Given the description of an element on the screen output the (x, y) to click on. 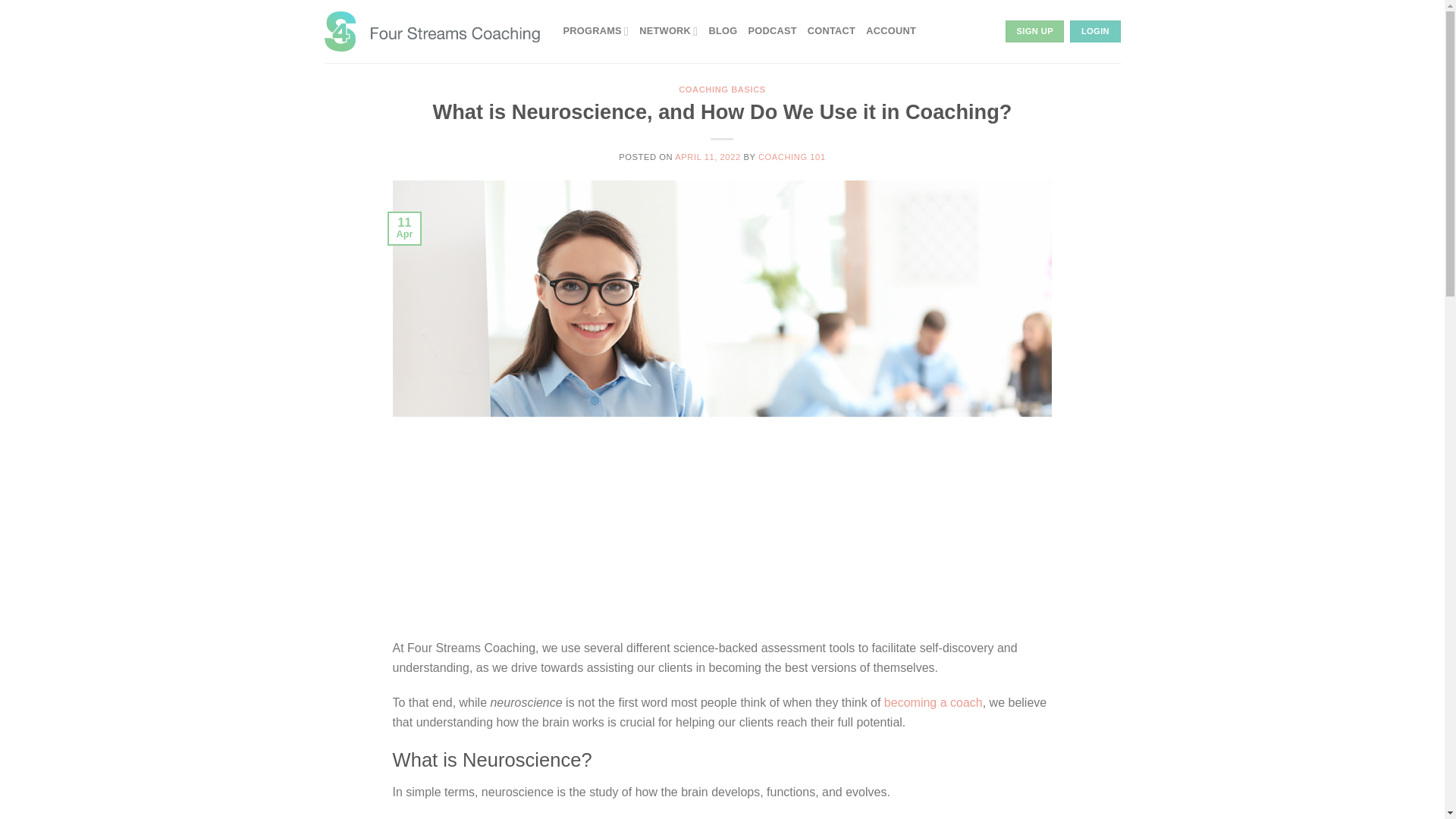
APRIL 11, 2022 (707, 156)
SIGN UP (1035, 31)
Four Streams Coaching - Discover Challenge Transform (432, 30)
ACCOUNT (890, 30)
LOGIN (1094, 31)
COACHING 101 (791, 156)
PODCAST (772, 30)
becoming a coach (932, 702)
PROGRAMS (595, 30)
NETWORK (668, 30)
